Given the description of an element on the screen output the (x, y) to click on. 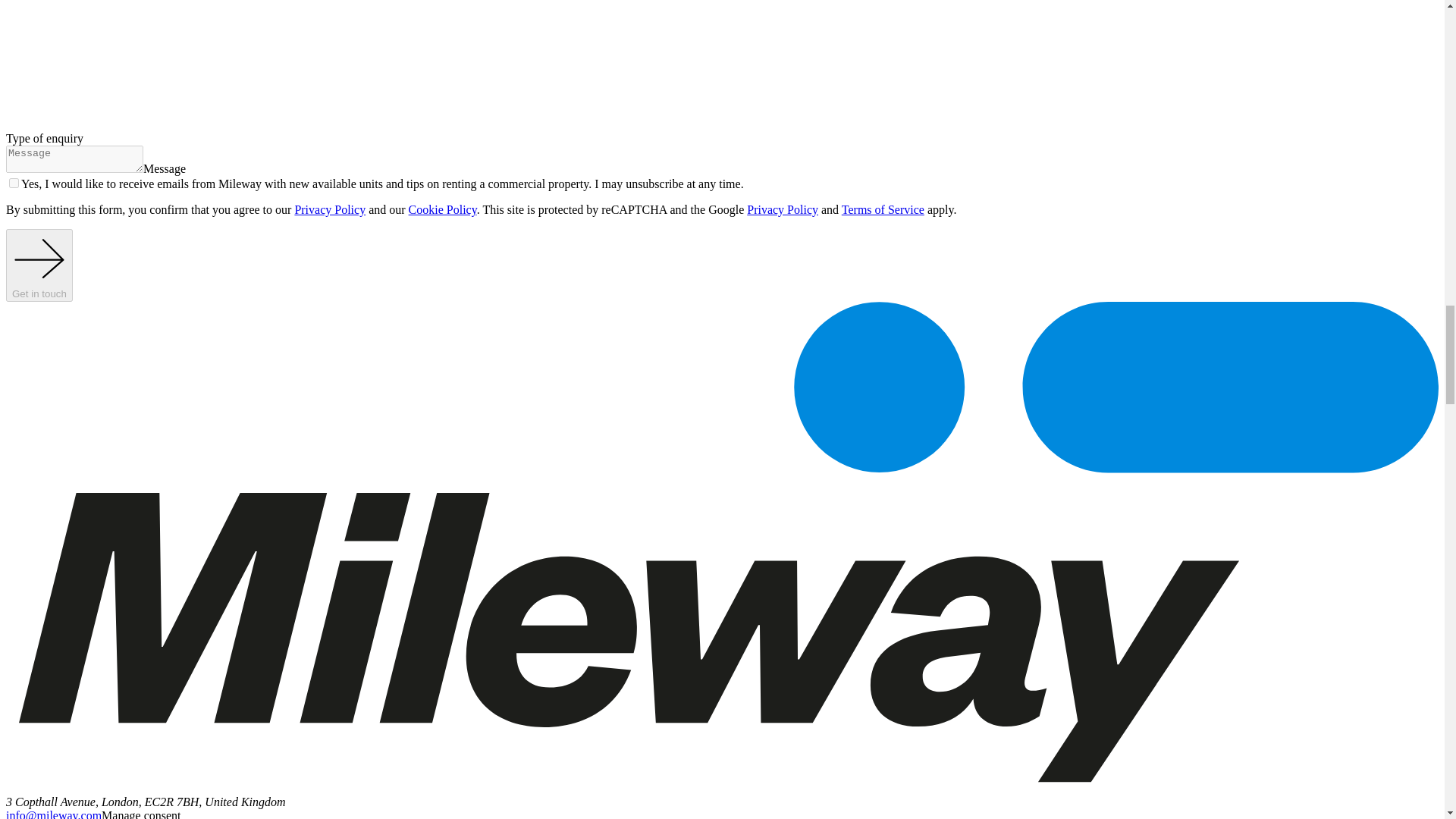
on (13, 183)
Terms of Service (882, 209)
Privacy Policy (782, 209)
Privacy Policy (329, 209)
Get in touch (38, 265)
Cookie Policy (443, 209)
